Given the description of an element on the screen output the (x, y) to click on. 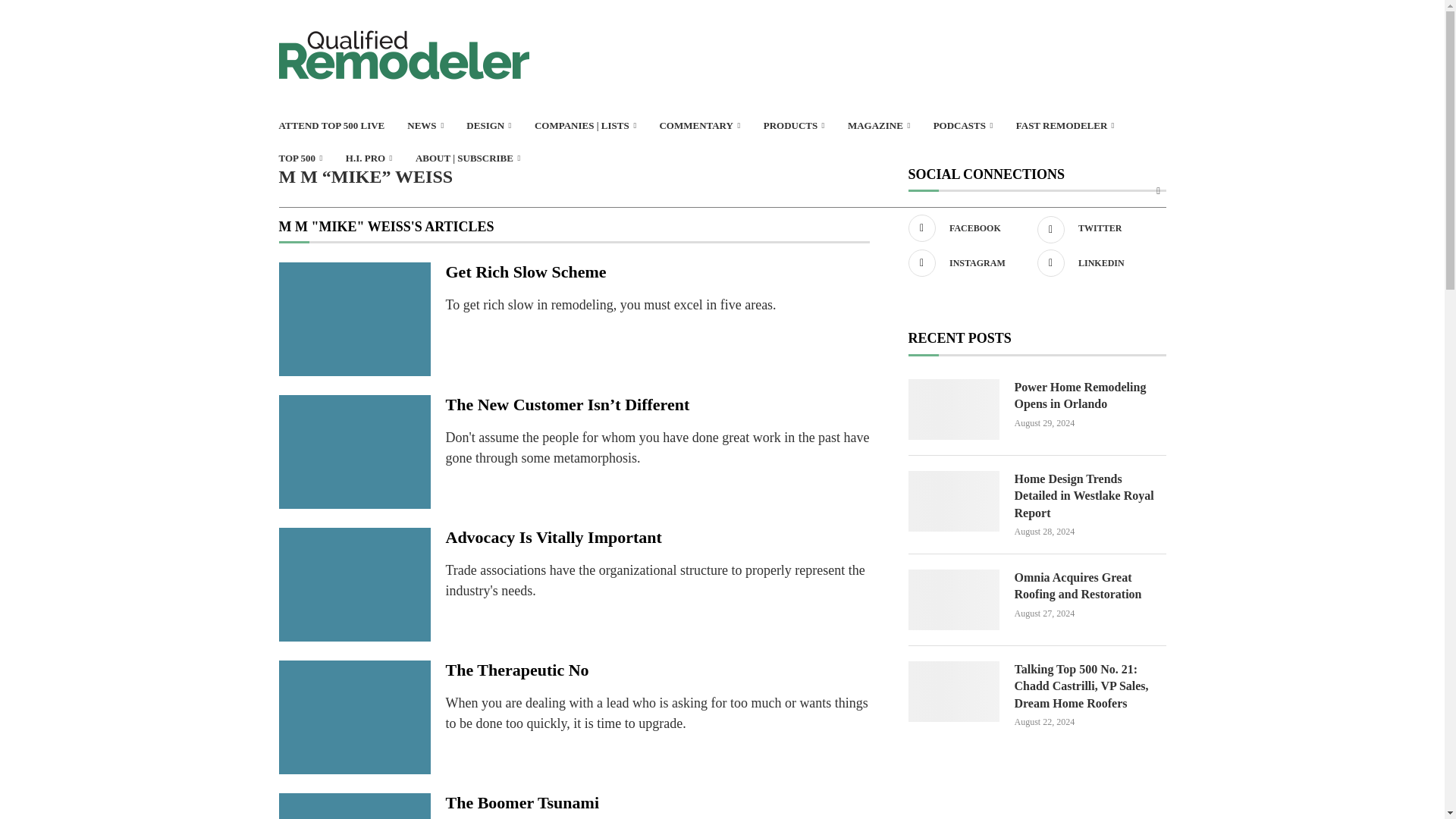
Power Home Remodeling Opens in Orlando (1090, 396)
COMMENTARY (699, 125)
Home Design Trends Detailed in Westlake Royal Report (1090, 495)
PRODUCTS (793, 125)
MAGAZINE (879, 125)
Omnia Acquires Great Roofing and Restoration (953, 599)
PODCASTS (962, 125)
NEWS (425, 125)
DESIGN (488, 125)
